Given the description of an element on the screen output the (x, y) to click on. 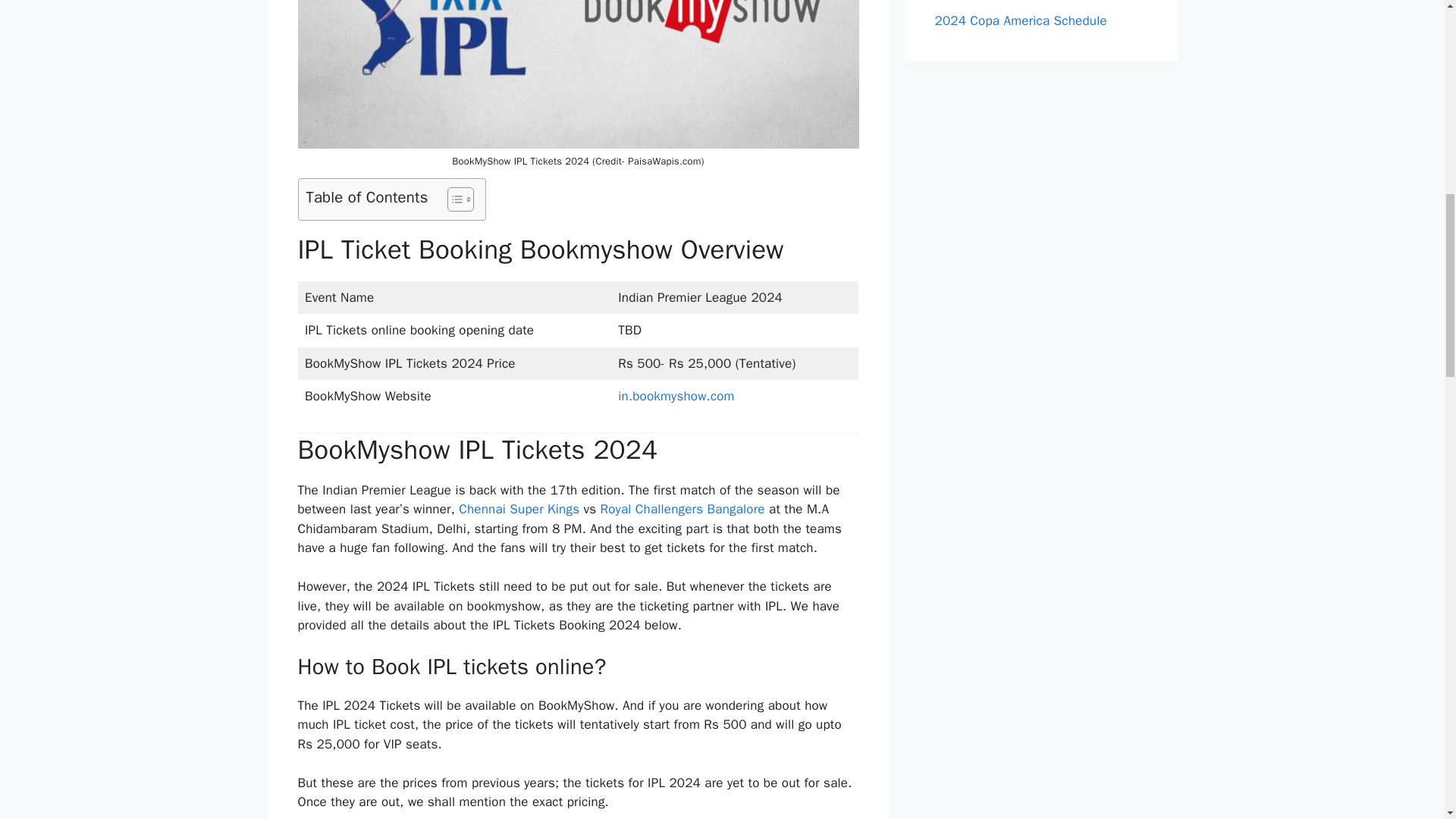
Royal Challengers Bangalore (681, 508)
Chennai Super Kings (518, 508)
in.bookmyshow.com (676, 396)
